Given the description of an element on the screen output the (x, y) to click on. 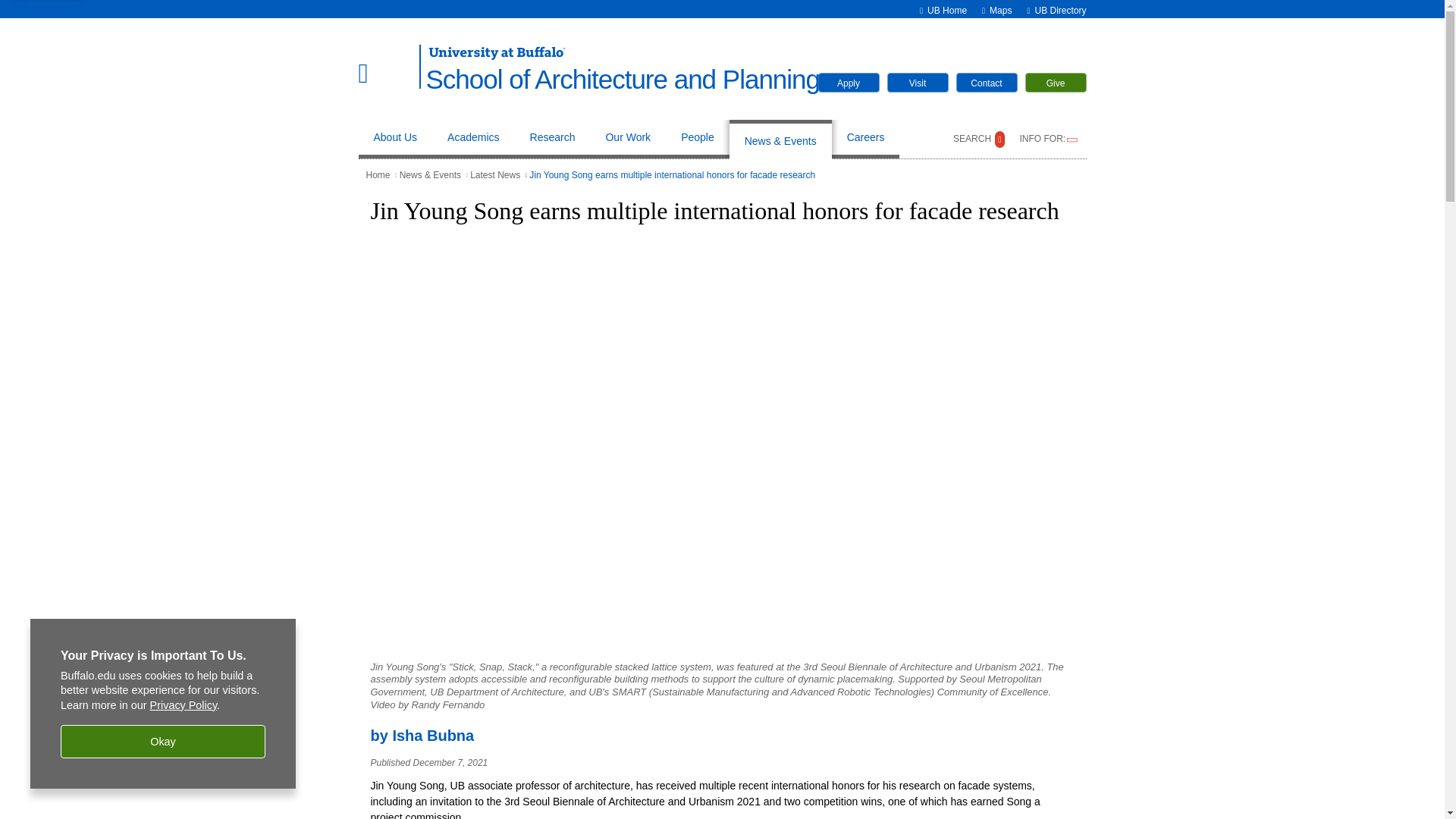
About Us (394, 138)
Academics (473, 138)
